Given the description of an element on the screen output the (x, y) to click on. 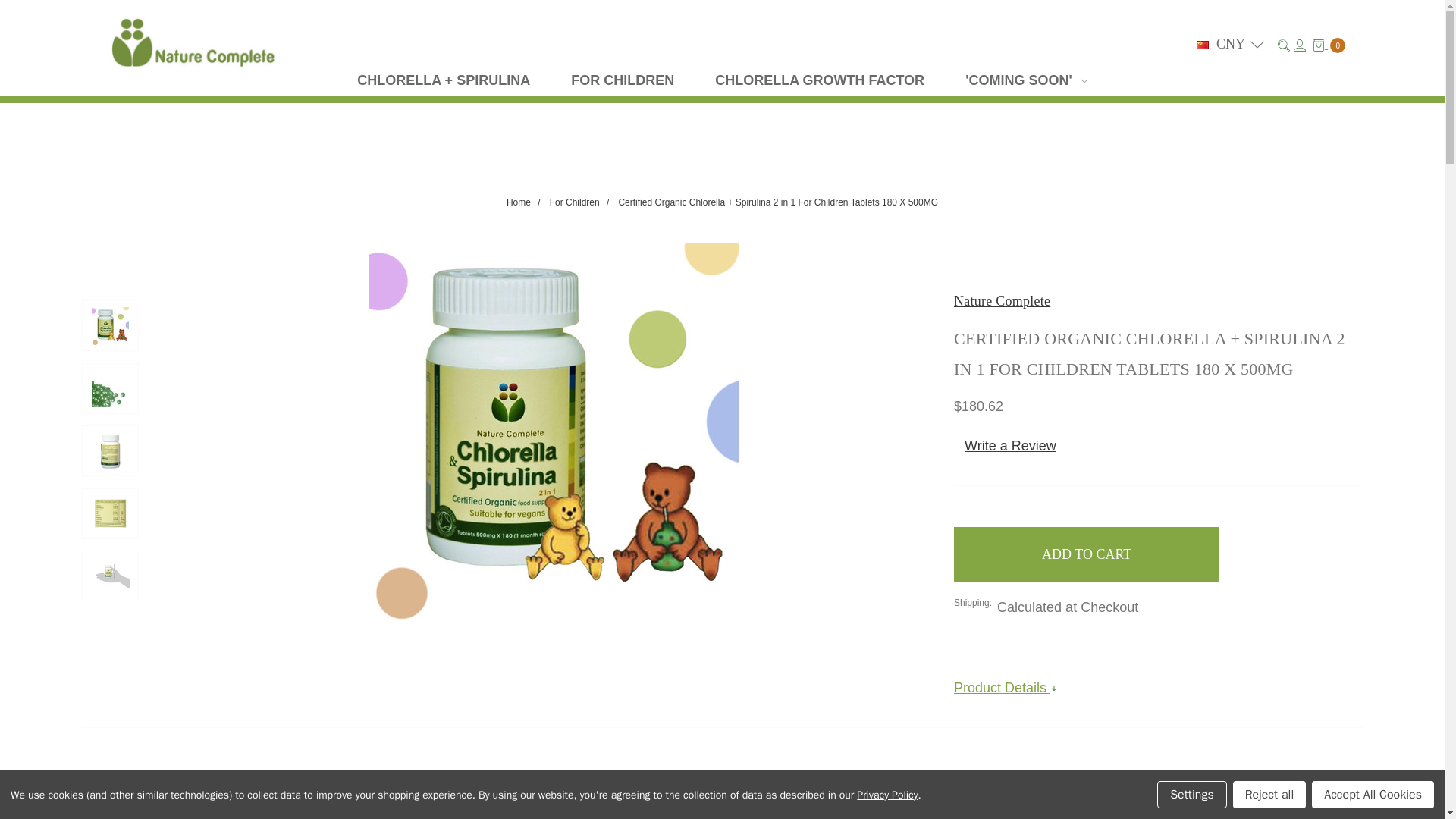
'COMING SOON' (1026, 80)
CHLORELLA GROWTH FACTOR (819, 80)
FOR CHILDREN (622, 80)
CNY (1230, 43)
0 (1329, 43)
Product Details (1157, 687)
Add to Cart (1086, 554)
